Given the description of an element on the screen output the (x, y) to click on. 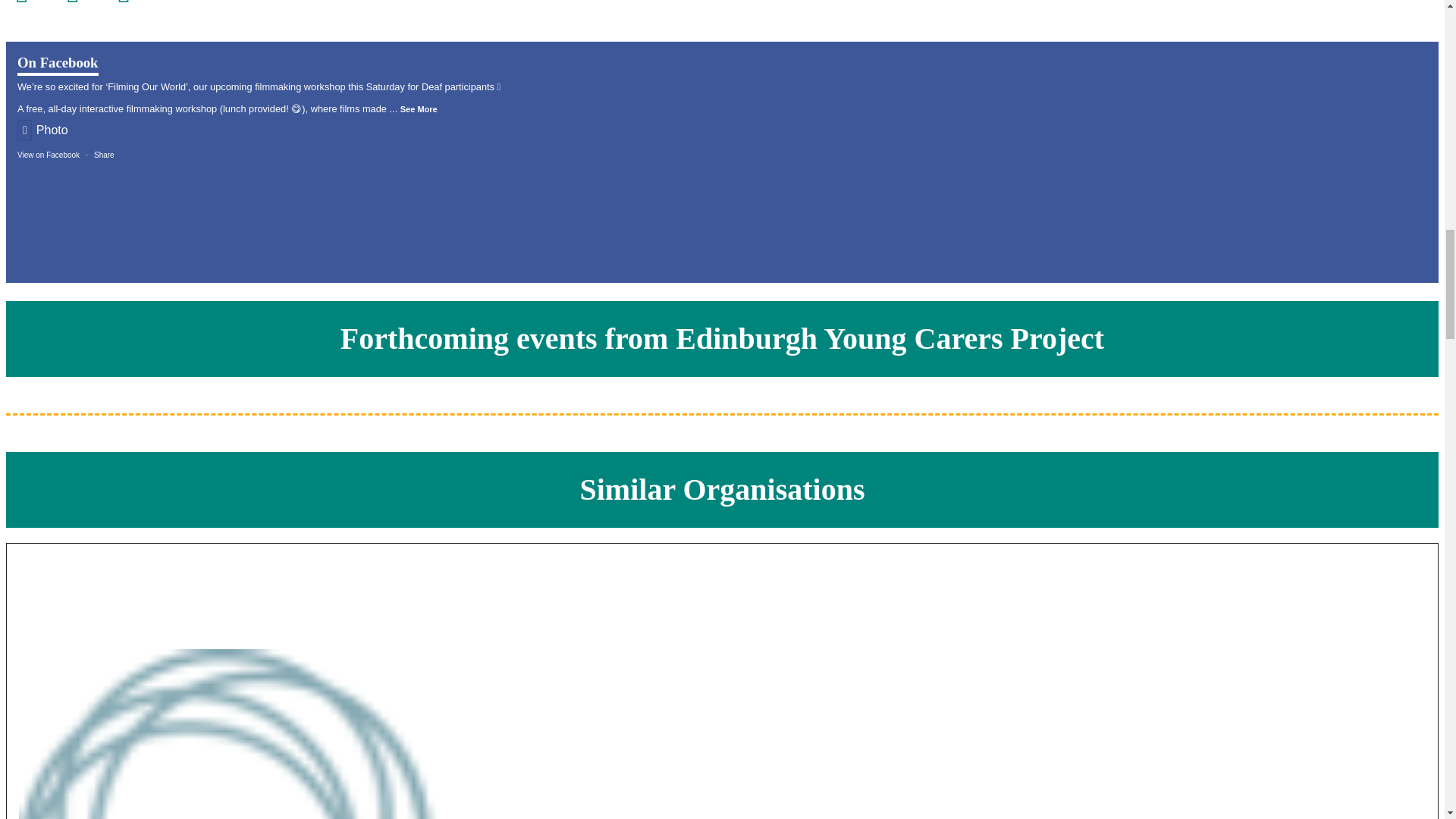
Share by Email (132, 2)
See More (419, 108)
Like this Page on Facebook (30, 2)
Share by email (132, 2)
Tweet This Page (81, 2)
View on Facebook (48, 154)
Photo (42, 129)
